Given the description of an element on the screen output the (x, y) to click on. 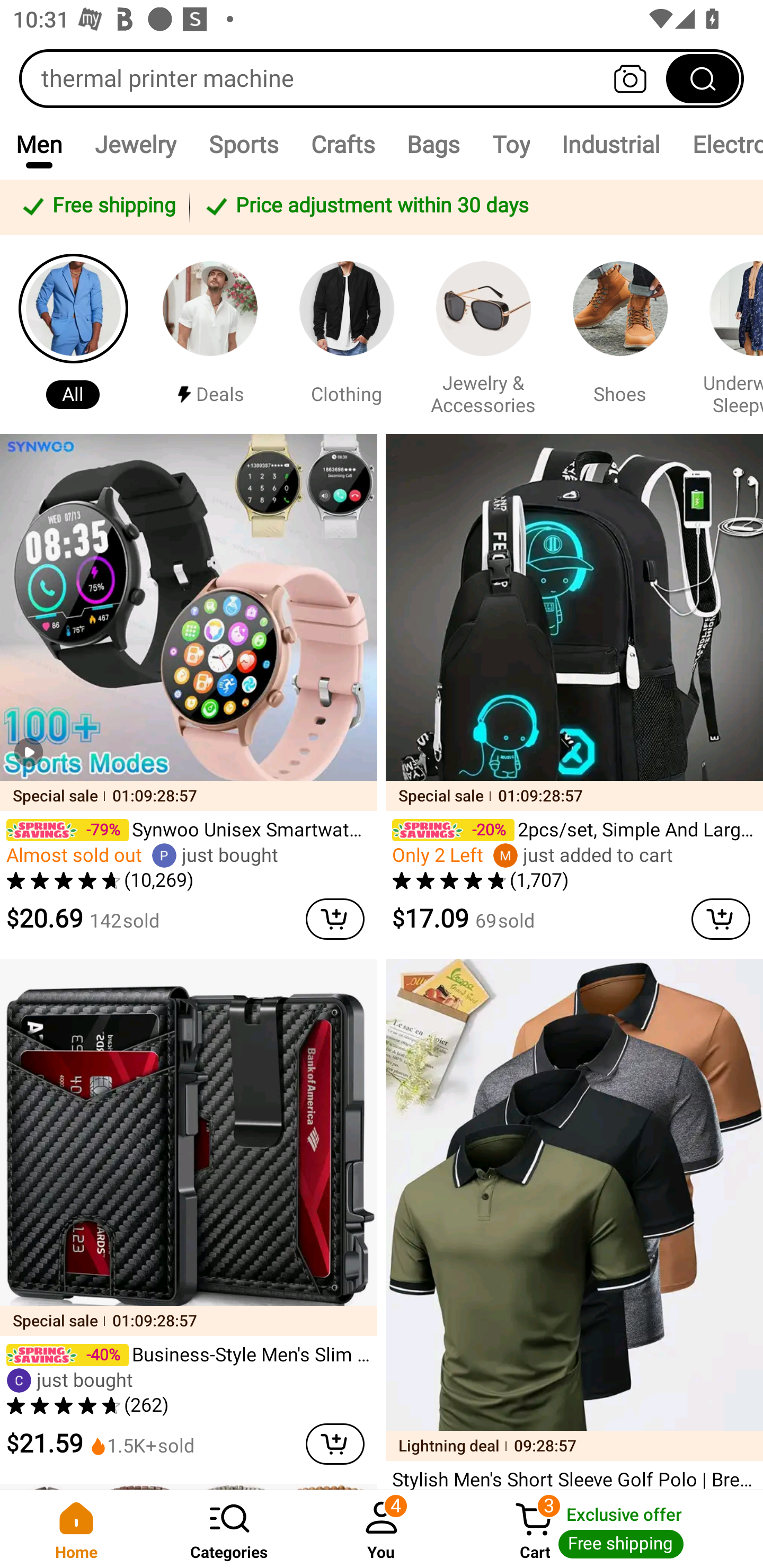
thermal printer machine (381, 78)
Men (39, 144)
Jewelry (135, 144)
Sports (243, 144)
Crafts (342, 144)
Bags (433, 144)
Toy (510, 144)
Industrial (610, 144)
Free shipping (97, 206)
Price adjustment within 30 days (472, 206)
All (72, 333)
￼￼Deals (209, 333)
Clothing (346, 333)
Jewelry & Accessories (482, 333)
Shoes (619, 333)
Underwear & Sleepwear (729, 333)
cart delete (334, 918)
cart delete (720, 918)
cart delete (334, 1443)
Home (76, 1528)
Categories (228, 1528)
You 4 You (381, 1528)
Cart 3 Cart Exclusive offer (610, 1528)
